Given the description of an element on the screen output the (x, y) to click on. 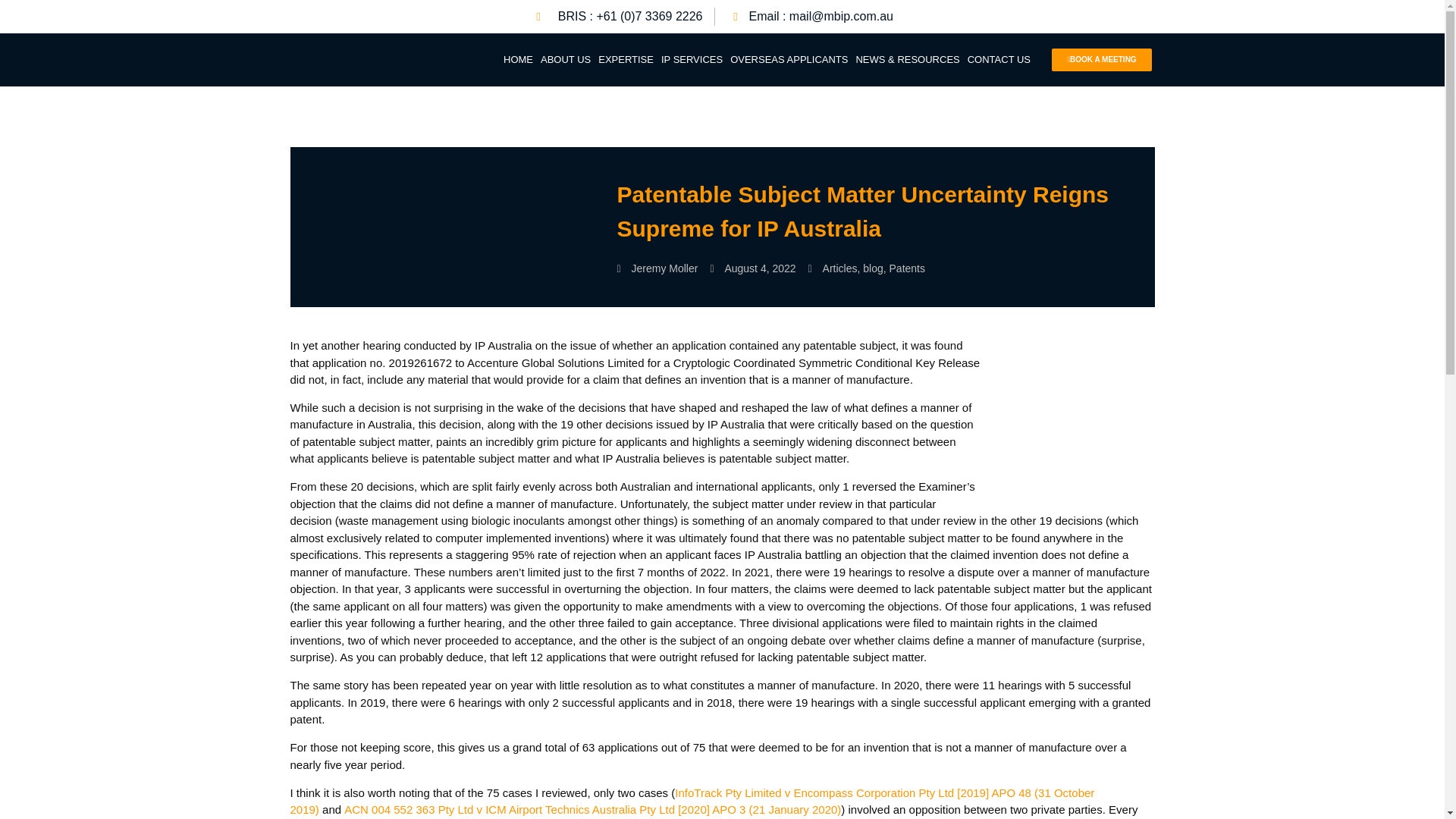
IP SERVICES (691, 59)
ABOUT US (565, 59)
HOME (517, 59)
EXPERTISE (625, 59)
